Given the description of an element on the screen output the (x, y) to click on. 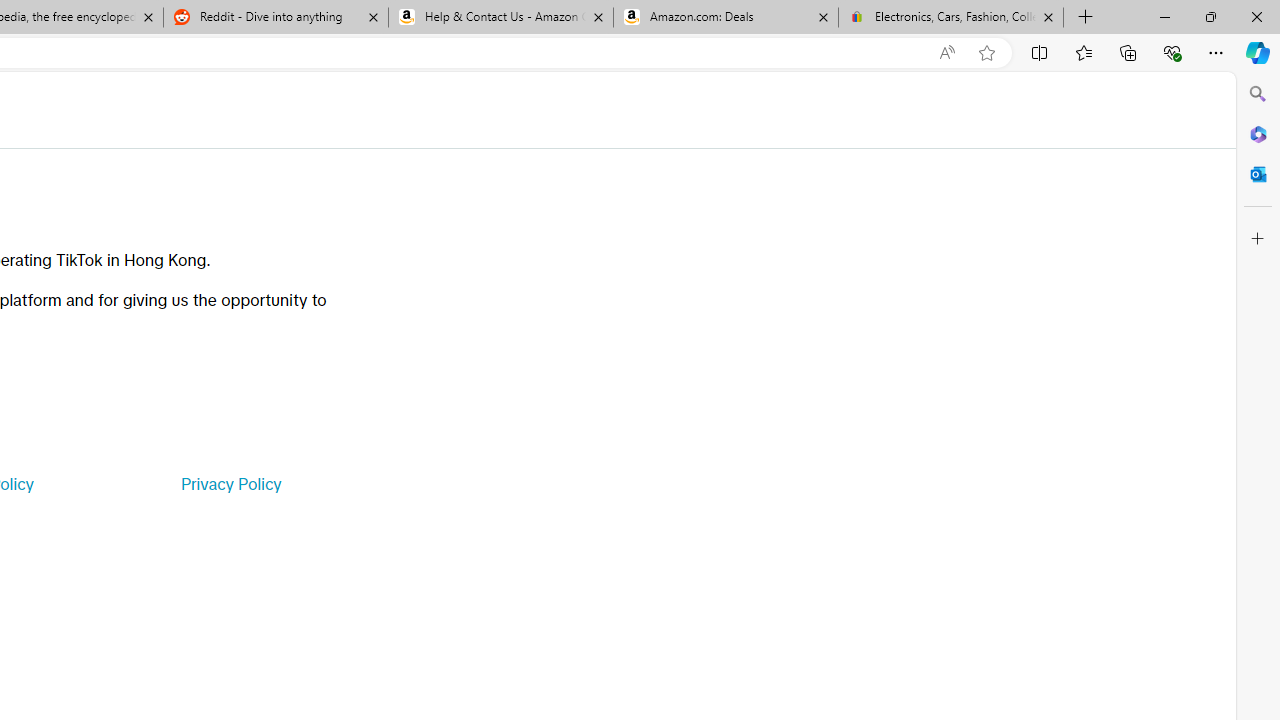
Help & Contact Us - Amazon Customer Service (501, 17)
Amazon.com: Deals (726, 17)
